Given the description of an element on the screen output the (x, y) to click on. 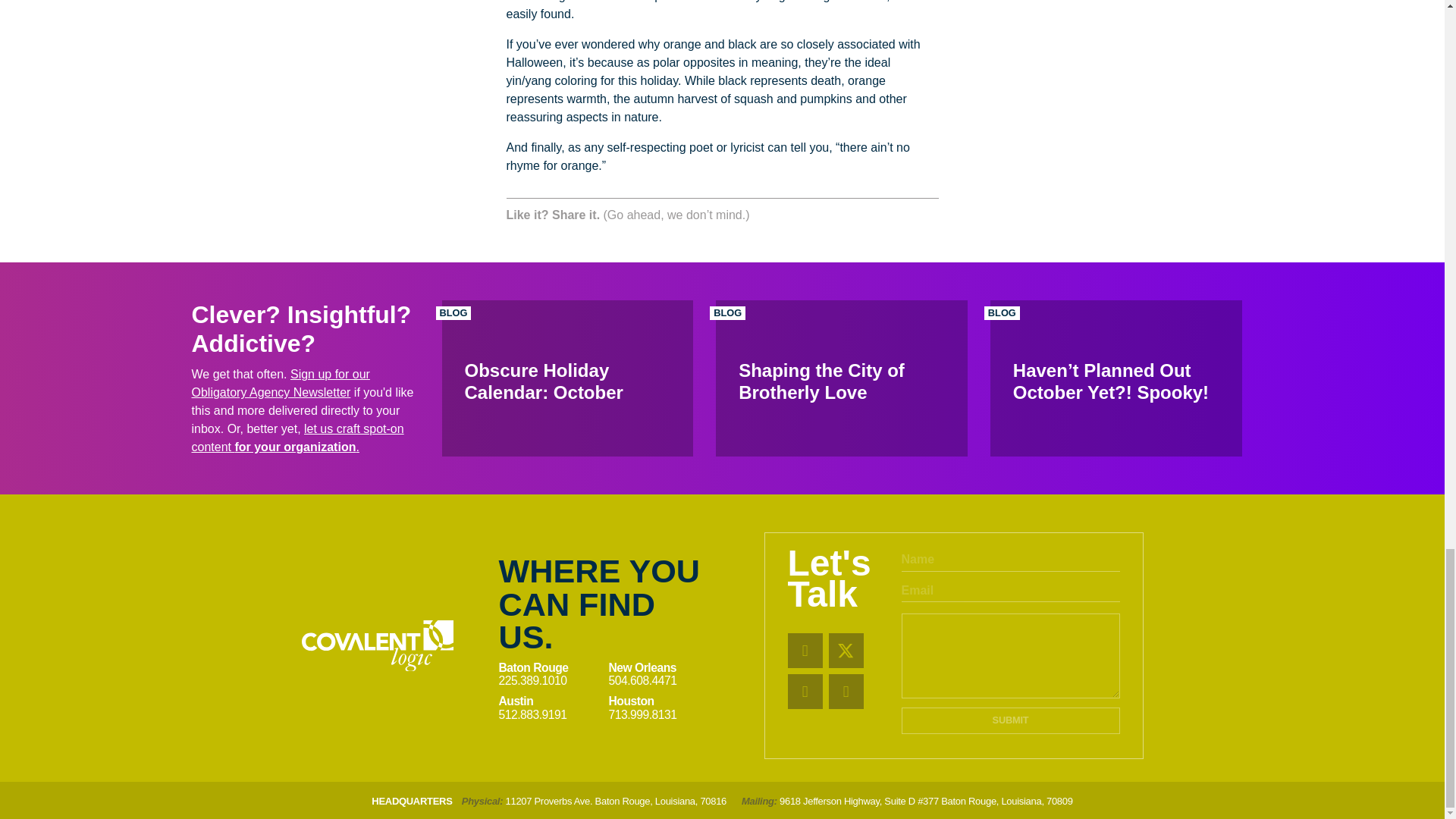
covalent logic (376, 645)
Shaping the City of Brotherly Love (842, 378)
713.999.8131 (662, 714)
512.883.9191 (550, 714)
Sign up for our Obligatory Agency Newsletter (279, 382)
504.608.4471 (662, 680)
let us craft spot-on content for your organization. (296, 437)
submit (1010, 720)
Obscure Holiday Calendar: October (567, 378)
New Orleans (662, 667)
Austin (550, 700)
Baton Rouge (550, 667)
225.389.1010 (550, 680)
Houston (662, 700)
